Given the description of an element on the screen output the (x, y) to click on. 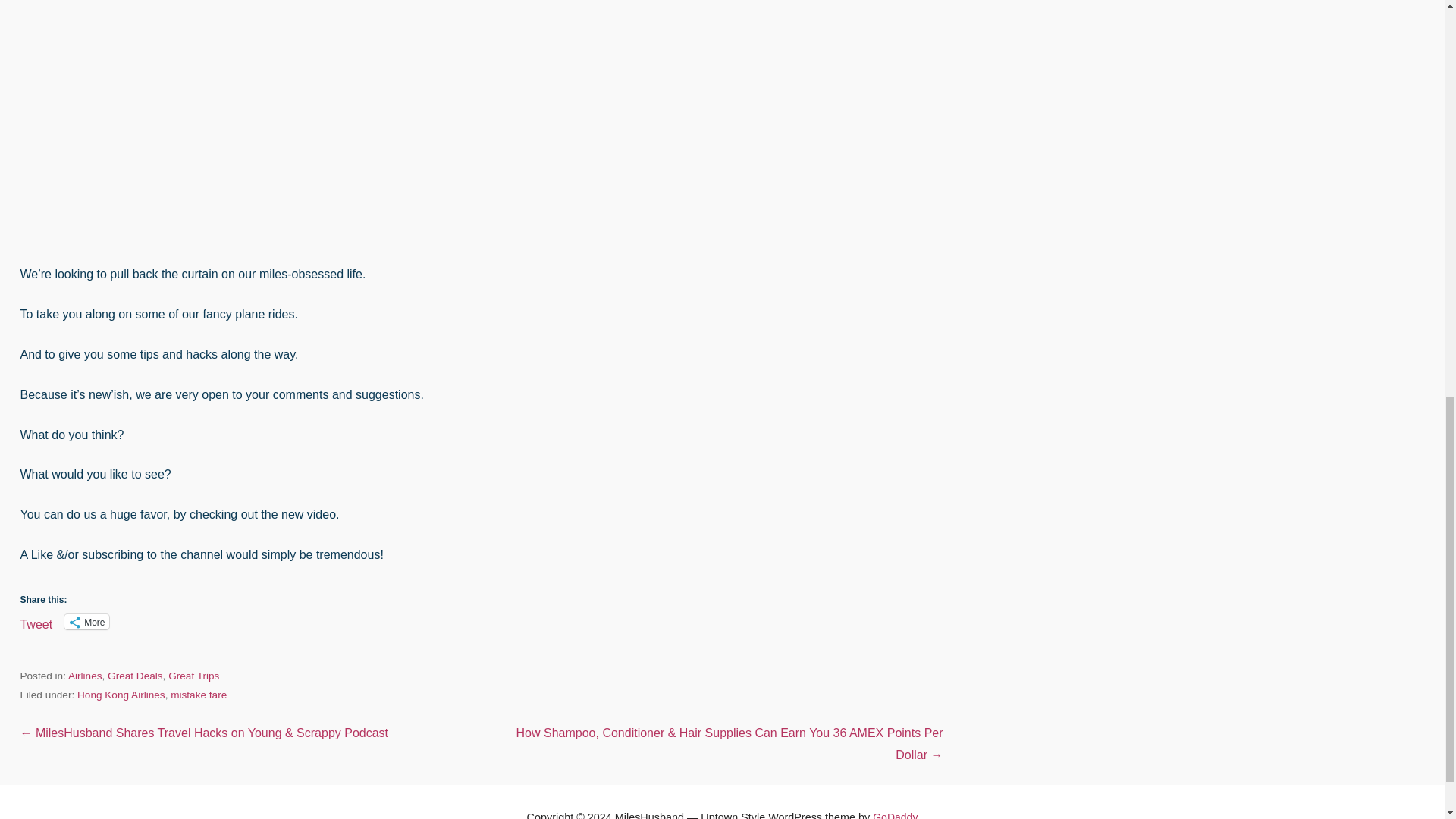
Airlines (84, 675)
mistake fare (198, 695)
Hong Kong Airlines (121, 695)
Great Trips (193, 675)
More (86, 621)
GoDaddy (894, 815)
Tweet (36, 621)
Great Deals (135, 675)
